Given the description of an element on the screen output the (x, y) to click on. 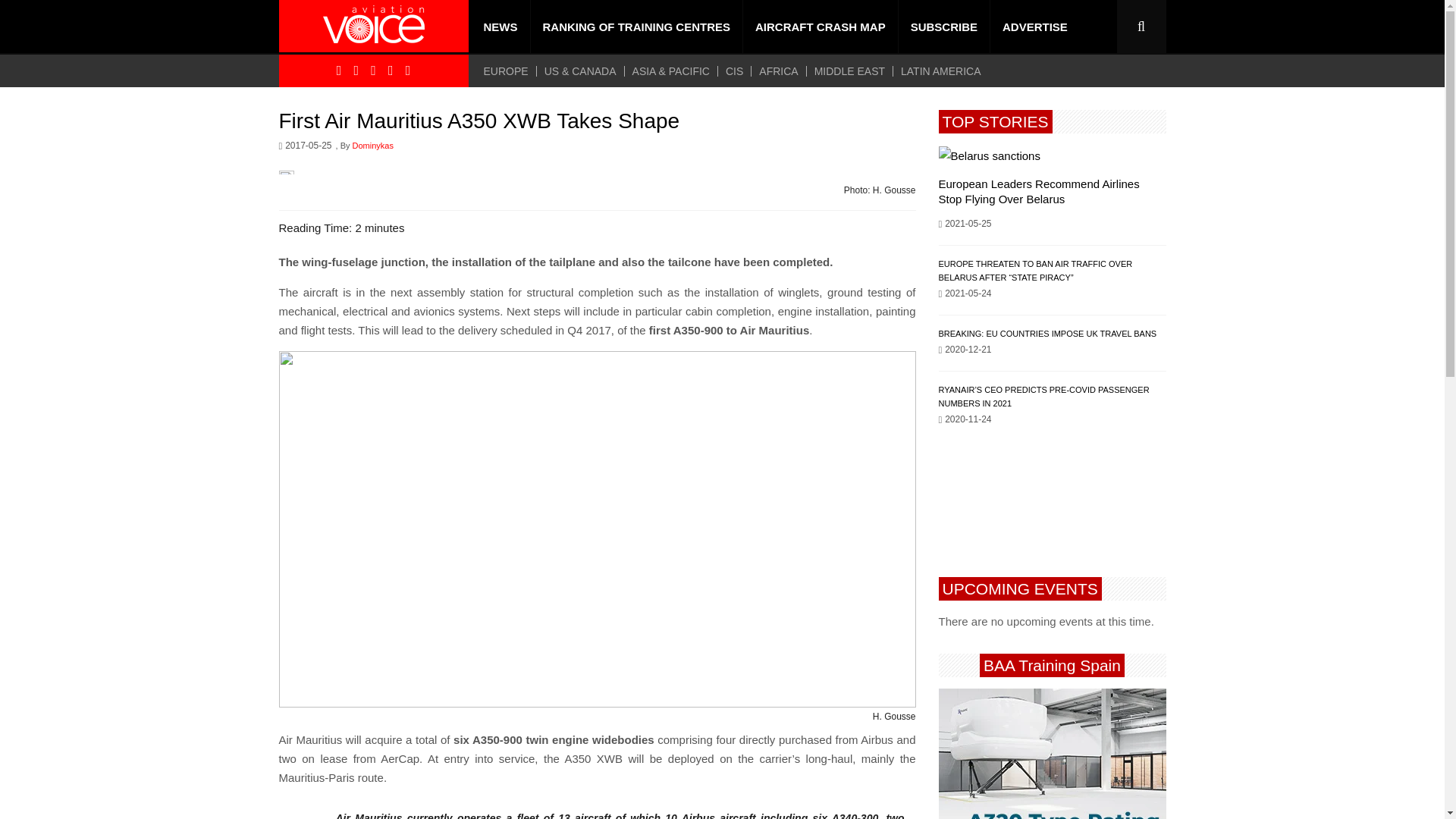
SUBSCRIBE (944, 26)
NEWS (500, 26)
Dominykas (372, 145)
EUROPE (509, 71)
AIRCRAFT CRASH MAP (820, 26)
RANKING OF TRAINING CENTRES (636, 26)
ADVERTISE (1035, 26)
MIDDLE EAST (849, 71)
LATIN AMERICA (940, 71)
AFRICA (778, 71)
